Given the description of an element on the screen output the (x, y) to click on. 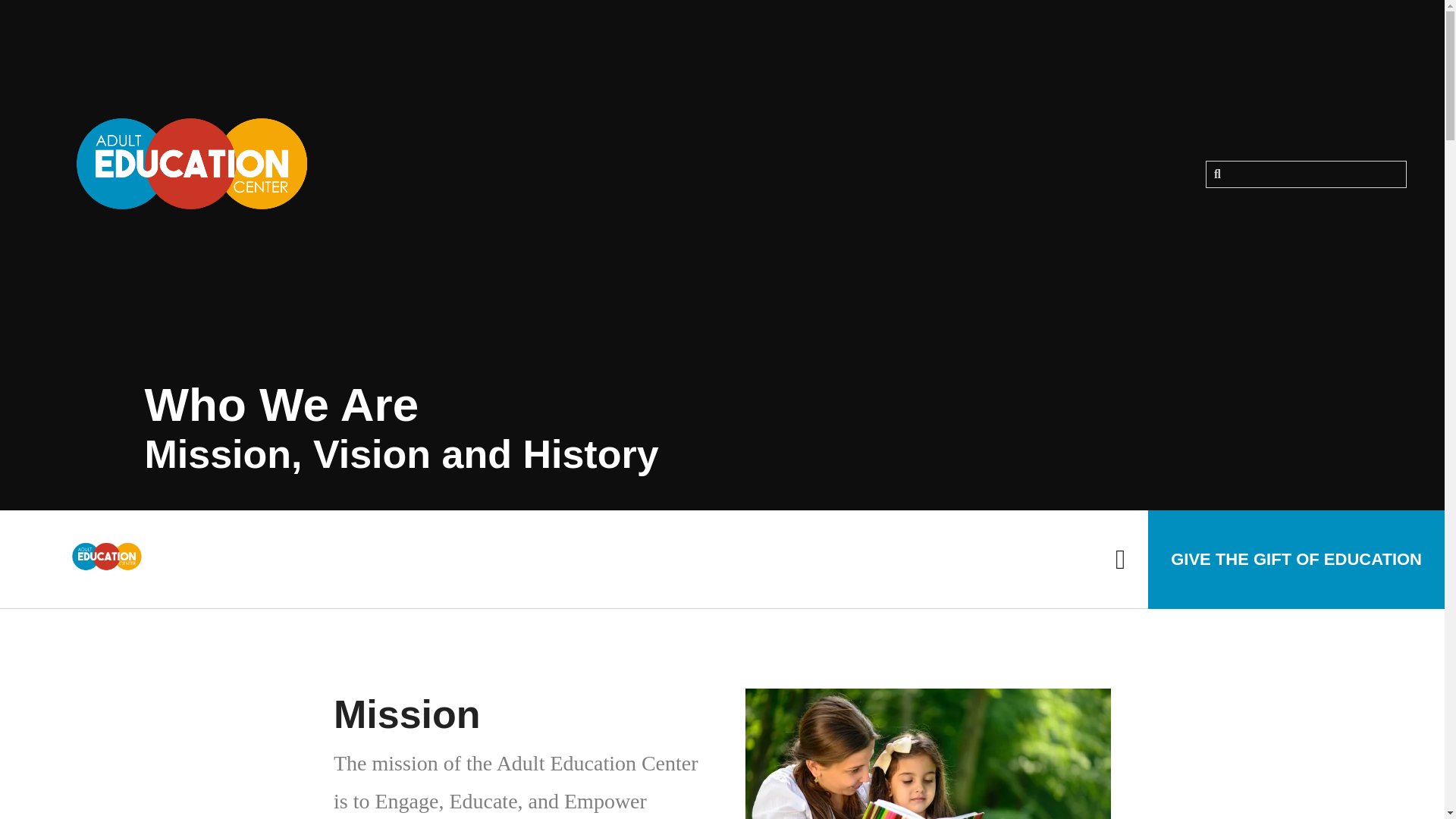
logo (106, 559)
logo (188, 173)
